Given the description of an element on the screen output the (x, y) to click on. 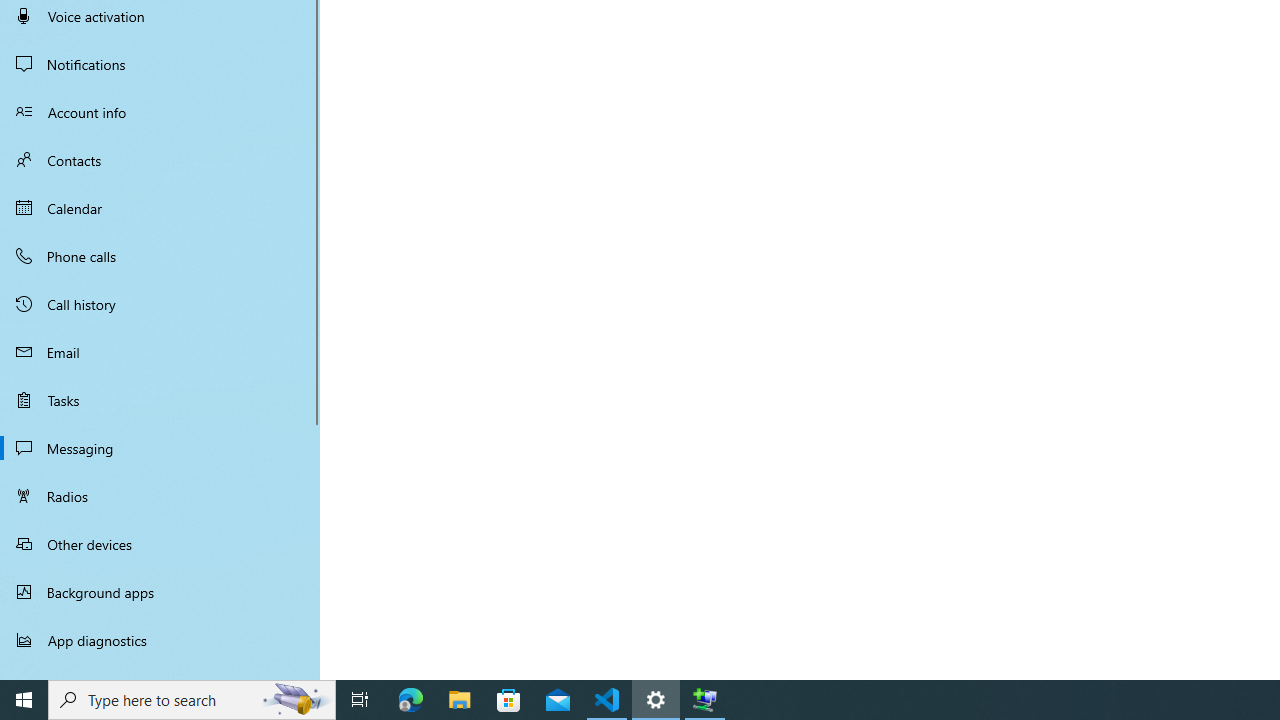
Call history (160, 304)
Email (160, 351)
Extensible Wizards Host Process - 1 running window (704, 699)
Calendar (160, 207)
App diagnostics (160, 639)
Automatic file downloads (160, 671)
Radios (160, 495)
Notifications (160, 63)
Tasks (160, 399)
Contacts (160, 160)
